Given the description of an element on the screen output the (x, y) to click on. 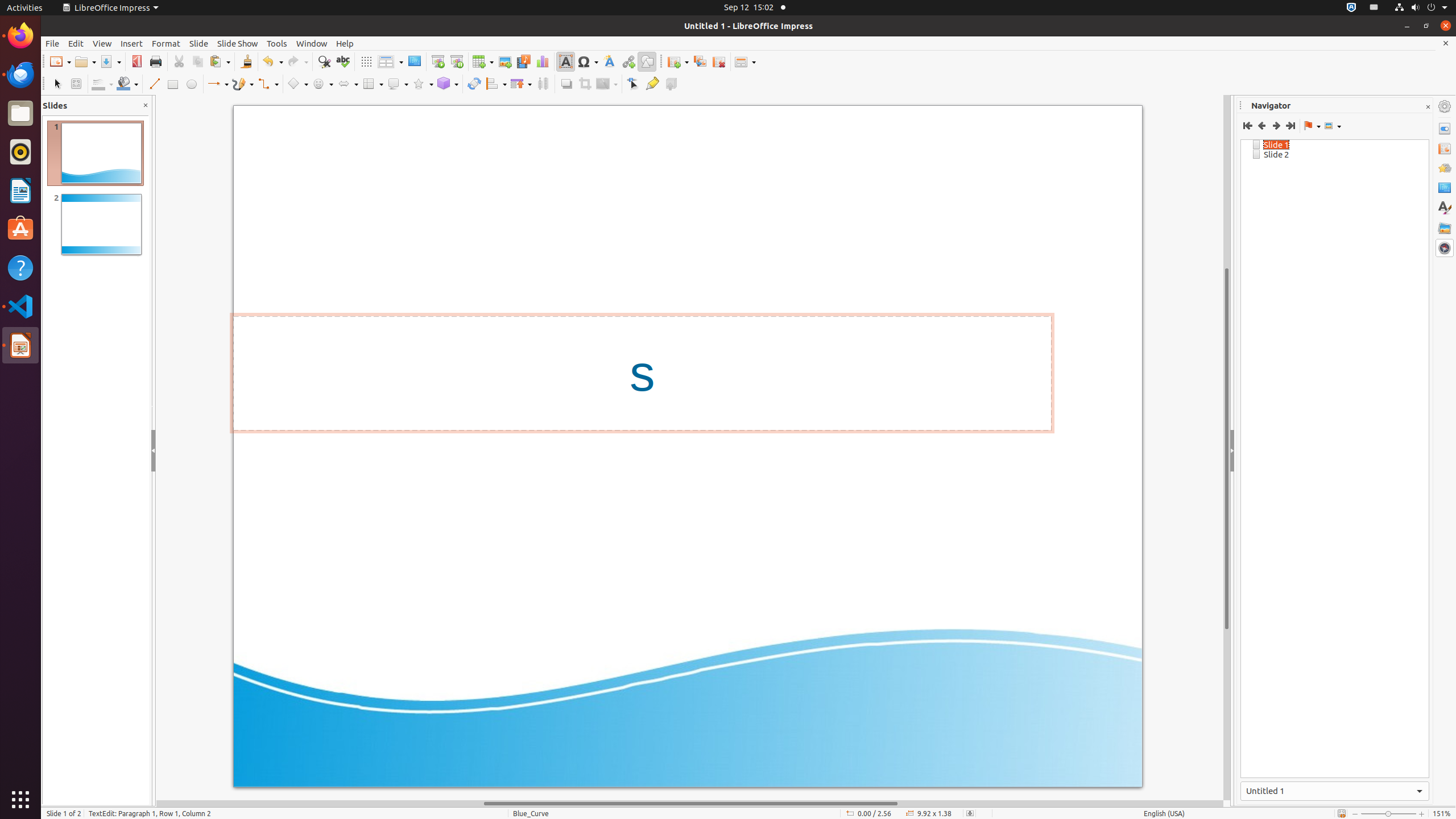
Animation Element type: radio-button (1444, 168)
Flowchart Shapes Element type: push-button (372, 83)
Open Element type: push-button (84, 61)
First Slide Element type: push-button (1247, 125)
Slide Transition Element type: radio-button (1444, 148)
